Given the description of an element on the screen output the (x, y) to click on. 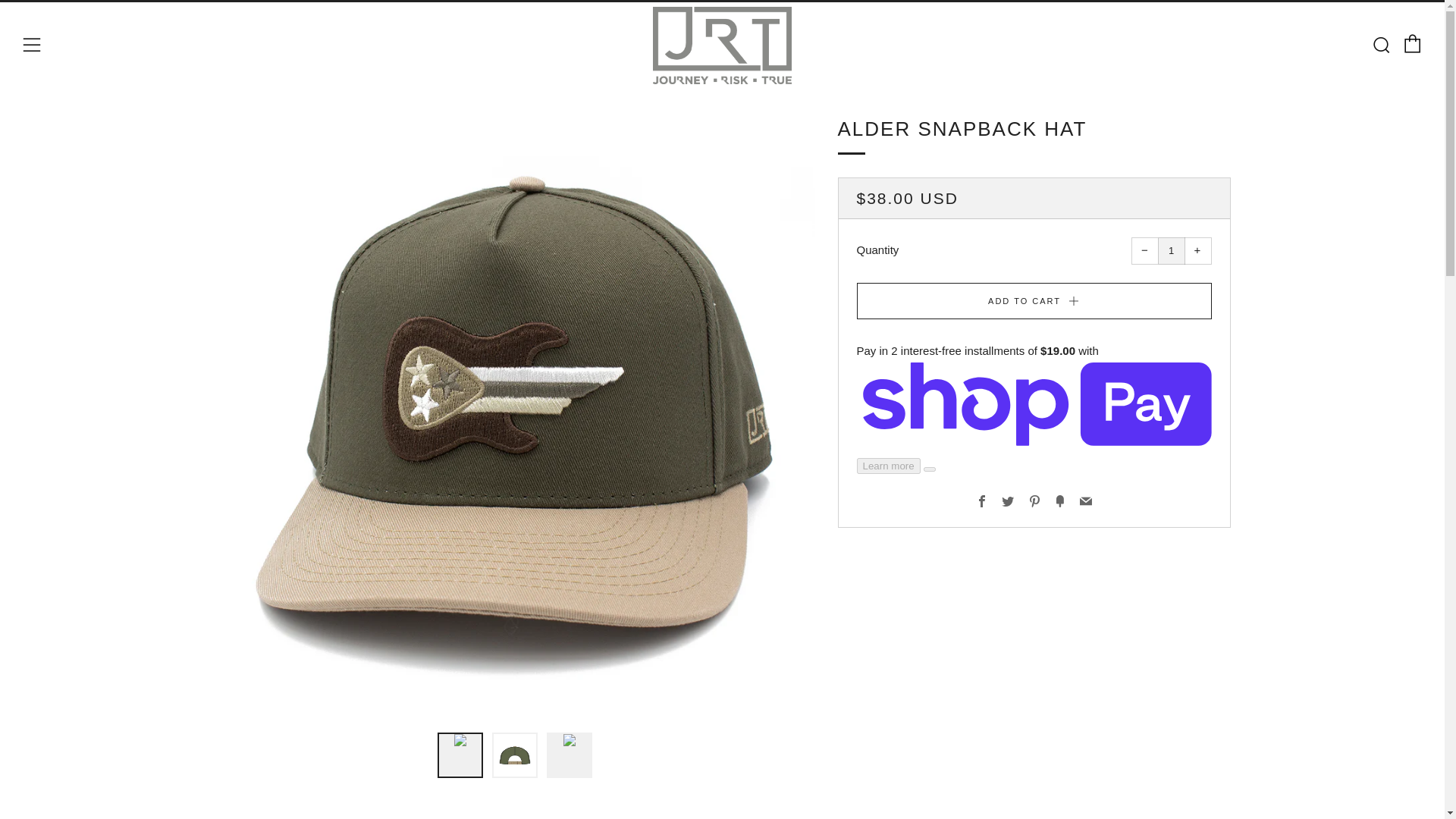
1 (1171, 250)
